Given the description of an element on the screen output the (x, y) to click on. 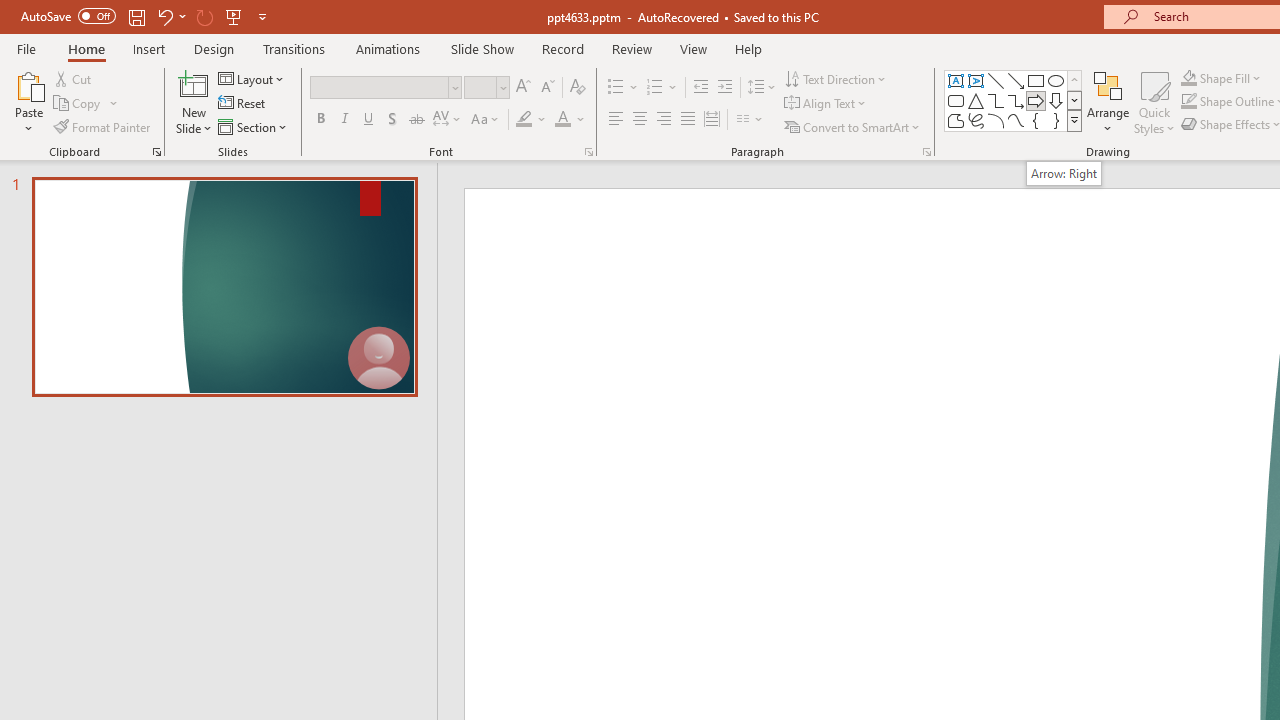
Connector: Elbow (995, 100)
Isosceles Triangle (975, 100)
Increase Indent (725, 87)
Convert to SmartArt (853, 126)
Line Spacing (762, 87)
Character Spacing (447, 119)
